Given the description of an element on the screen output the (x, y) to click on. 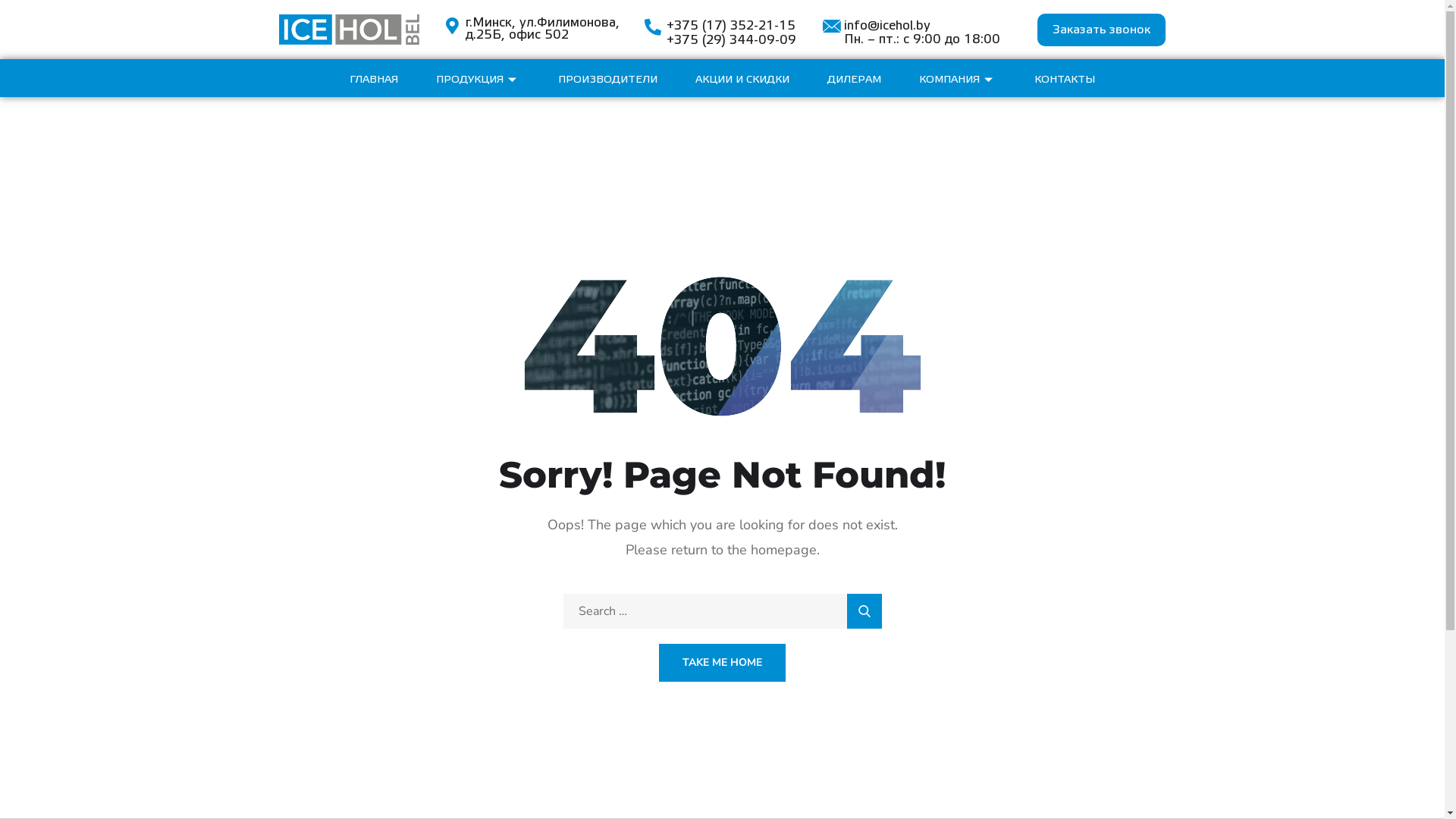
TAKE ME HOME Element type: text (721, 662)
